Given the description of an element on the screen output the (x, y) to click on. 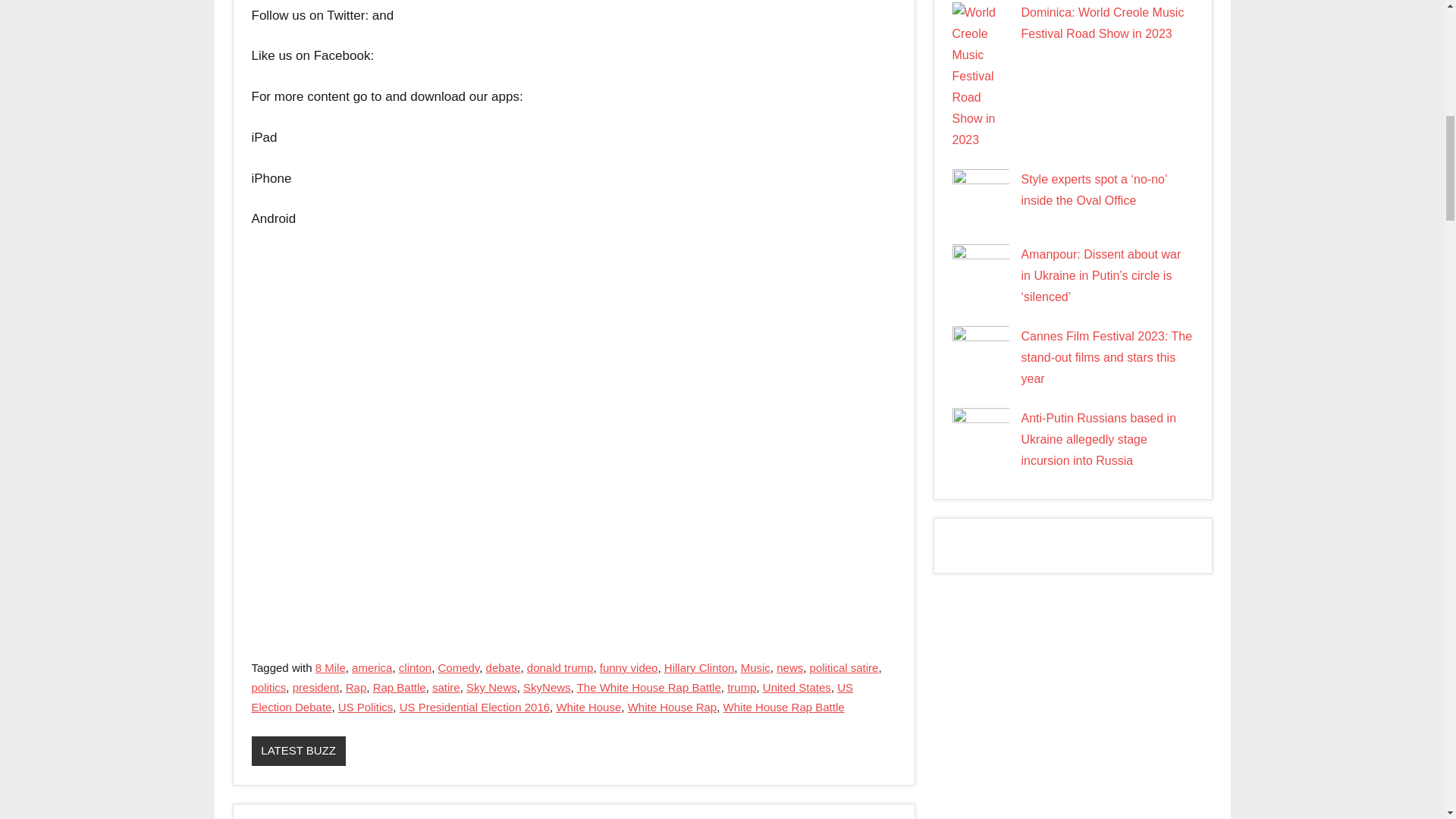
US Election Debate (552, 696)
8 Mile (330, 667)
satire (446, 686)
trump (740, 686)
news (789, 667)
debate (503, 667)
Rap (356, 686)
political satire (844, 667)
Sky News (490, 686)
funny video (628, 667)
